Given the description of an element on the screen output the (x, y) to click on. 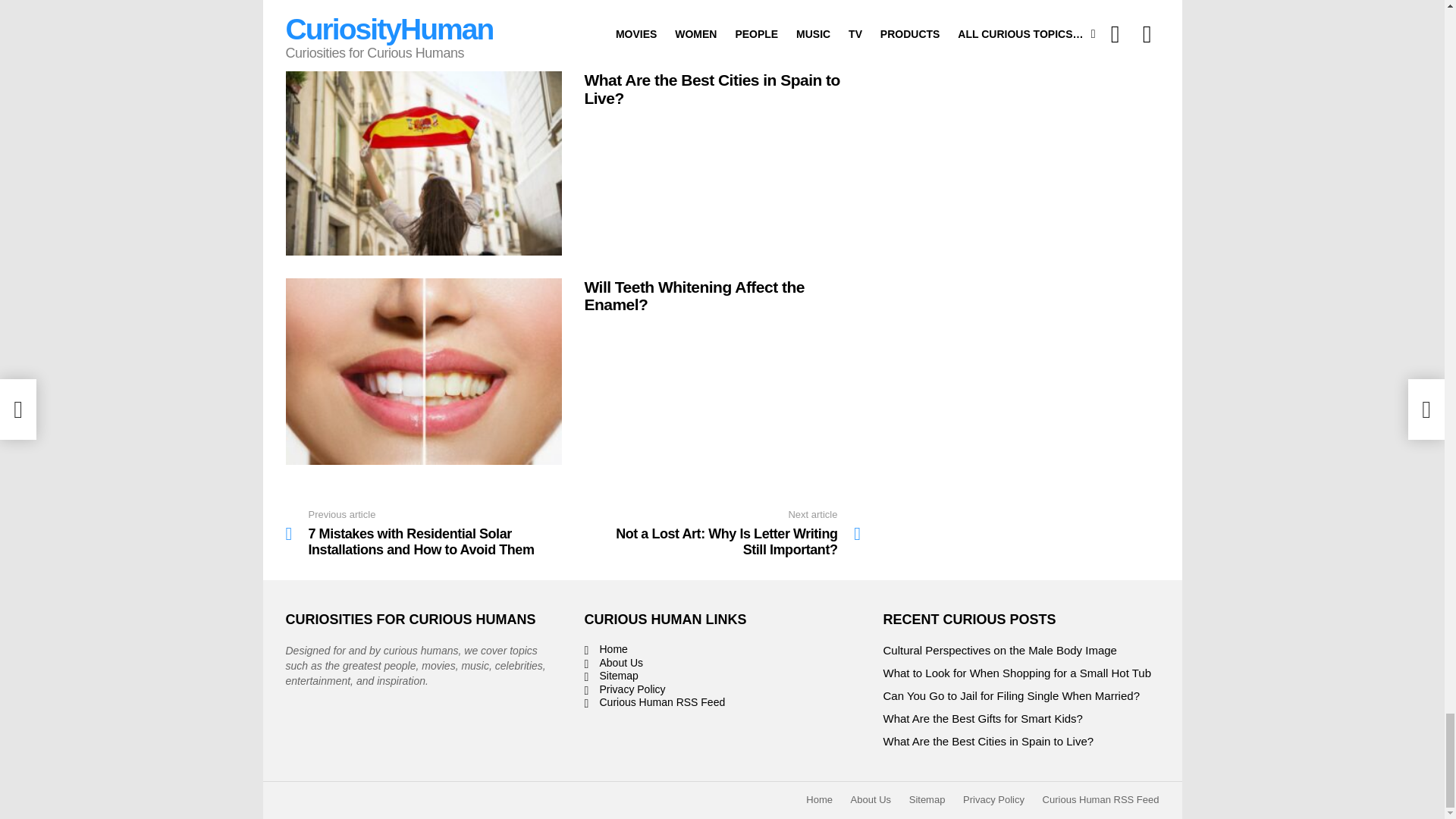
Will Teeth Whitening Affect the Enamel? (422, 371)
What Are the Best Cities in Spain to Live? (422, 163)
What Are the Best Gifts for Smart Kids? (422, 24)
